Given the description of an element on the screen output the (x, y) to click on. 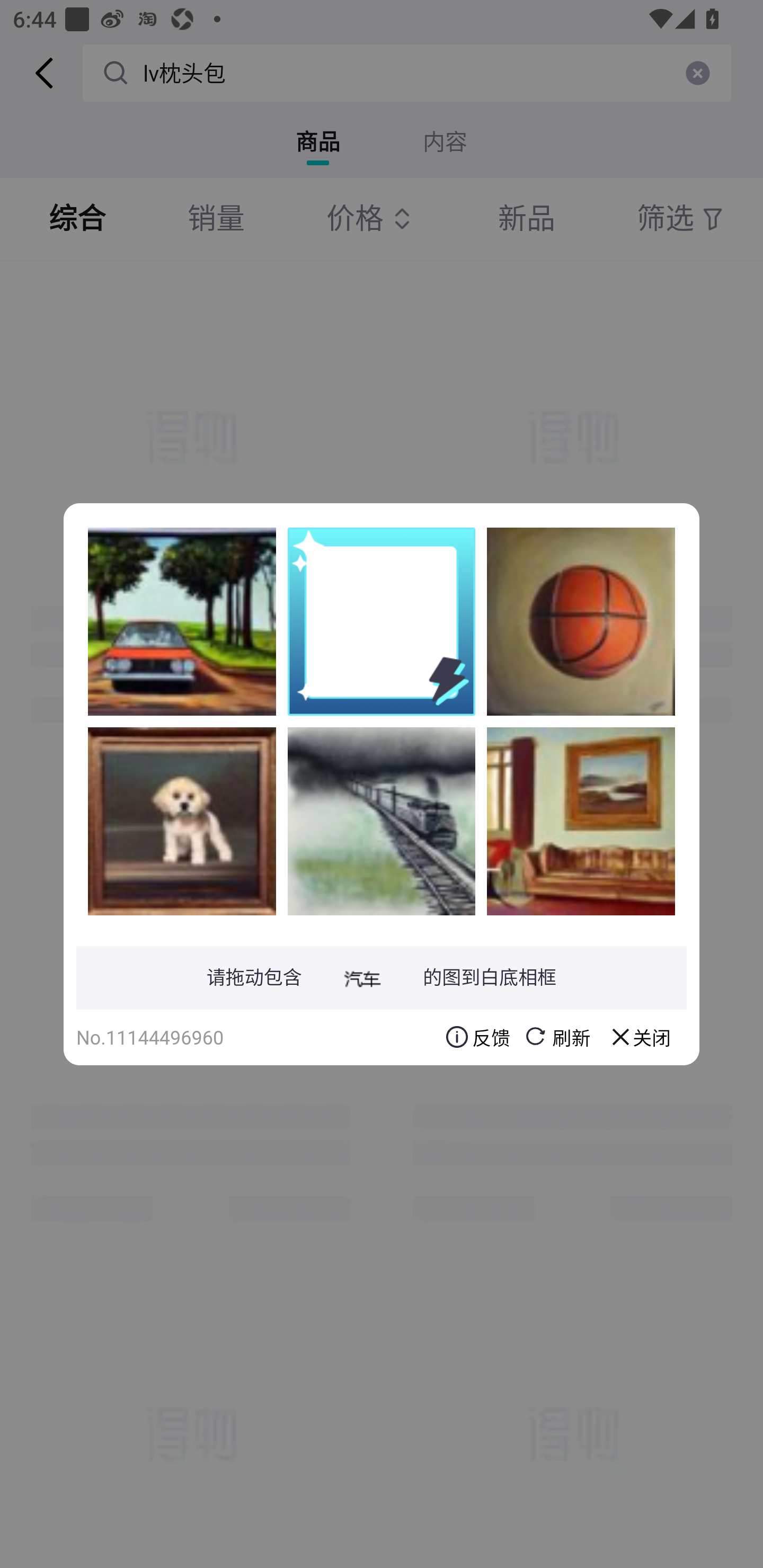
08cHsjgPRU (181, 621)
2Xs27wGJloQAy3GqsW9+I (181, 820)
7w8ztl7z (381, 820)
PWp9jTk7AENEvdrcXznOqJ3anJkyzqObNfBf4s2AV (580, 820)
